Given the description of an element on the screen output the (x, y) to click on. 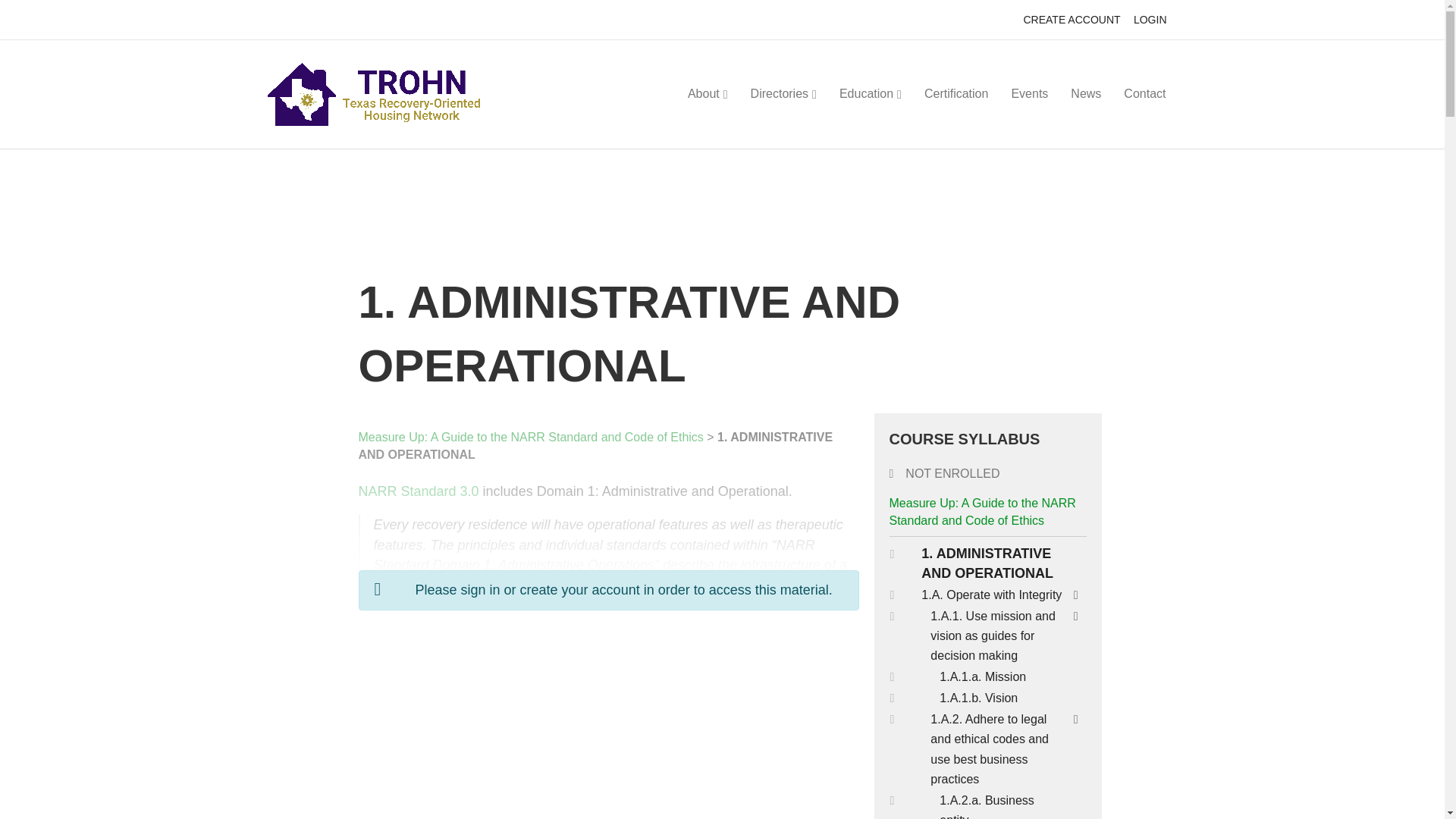
LOGIN (1150, 19)
Directories (783, 94)
CREATE ACCOUNT (1071, 19)
About (708, 94)
Education (870, 94)
